Given the description of an element on the screen output the (x, y) to click on. 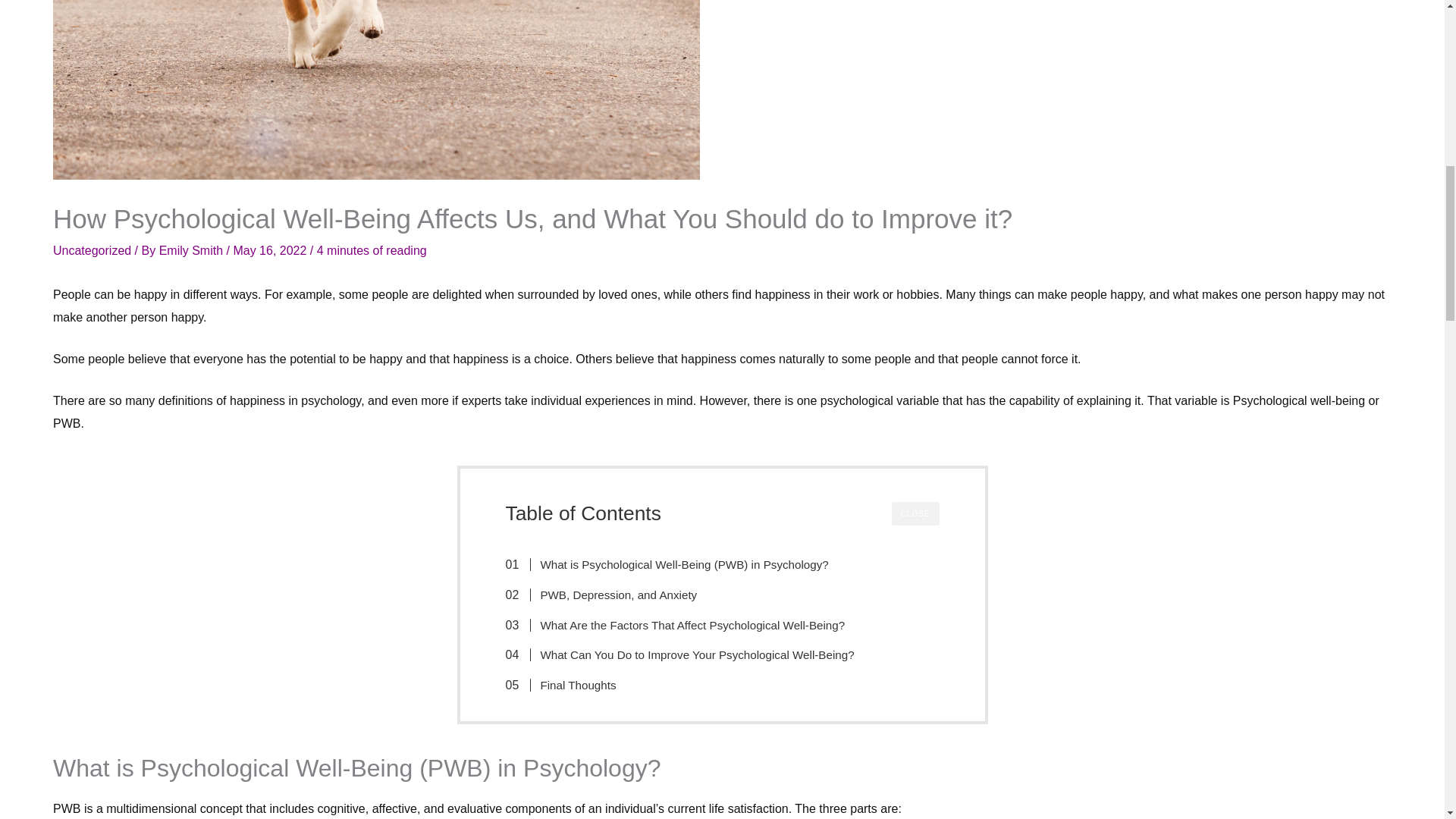
Final Thoughts (568, 685)
What Are the Factors That Affect Psychological Well-Being? (682, 625)
Uncategorized (91, 250)
Emily Smith (192, 250)
What Can You Do to Improve Your Psychological Well-Being? (687, 655)
PWB, Depression, and Anxiety (609, 595)
View all posts by Emily Smith (192, 250)
